Given the description of an element on the screen output the (x, y) to click on. 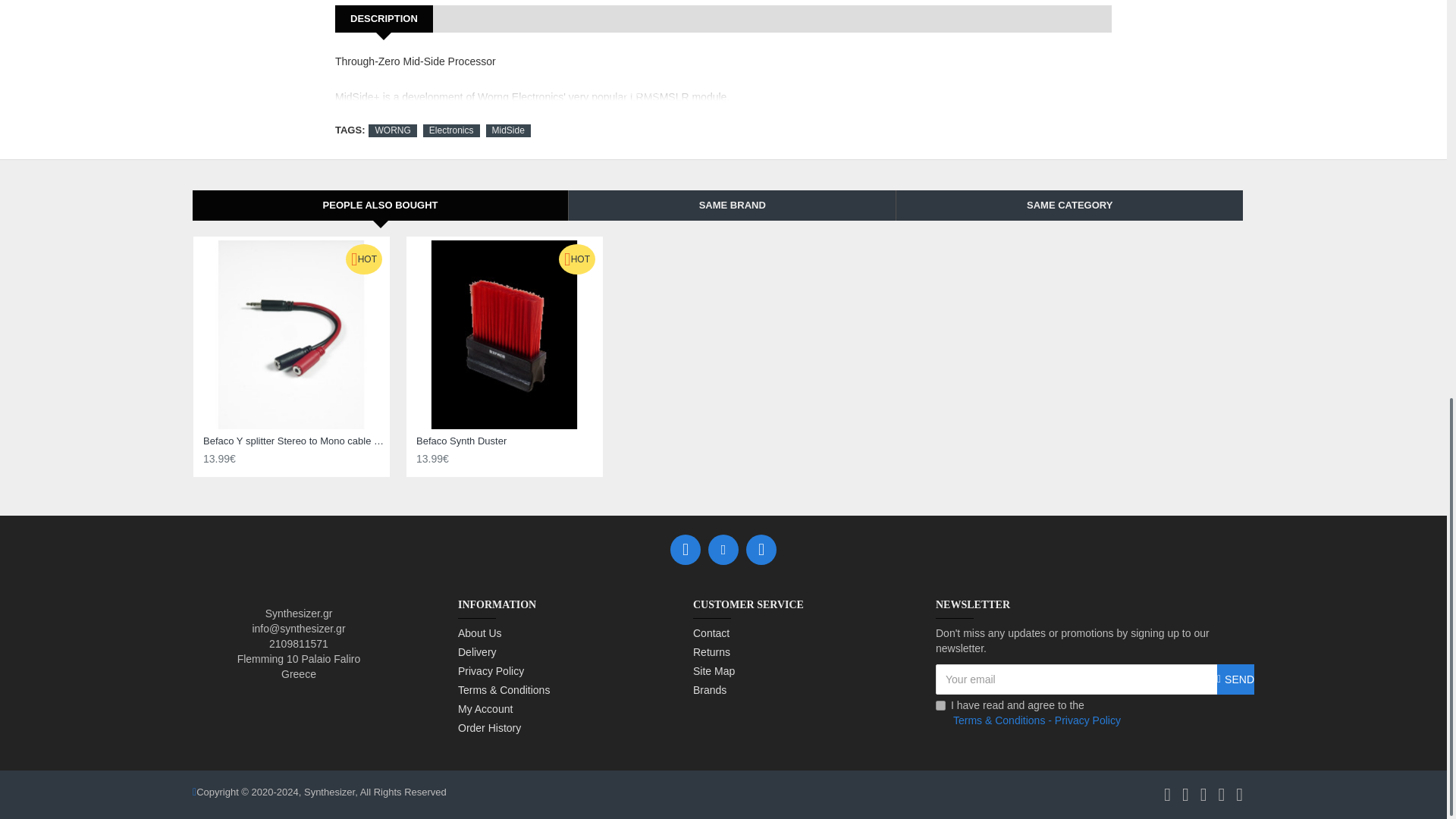
1 (940, 705)
